Given the description of an element on the screen output the (x, y) to click on. 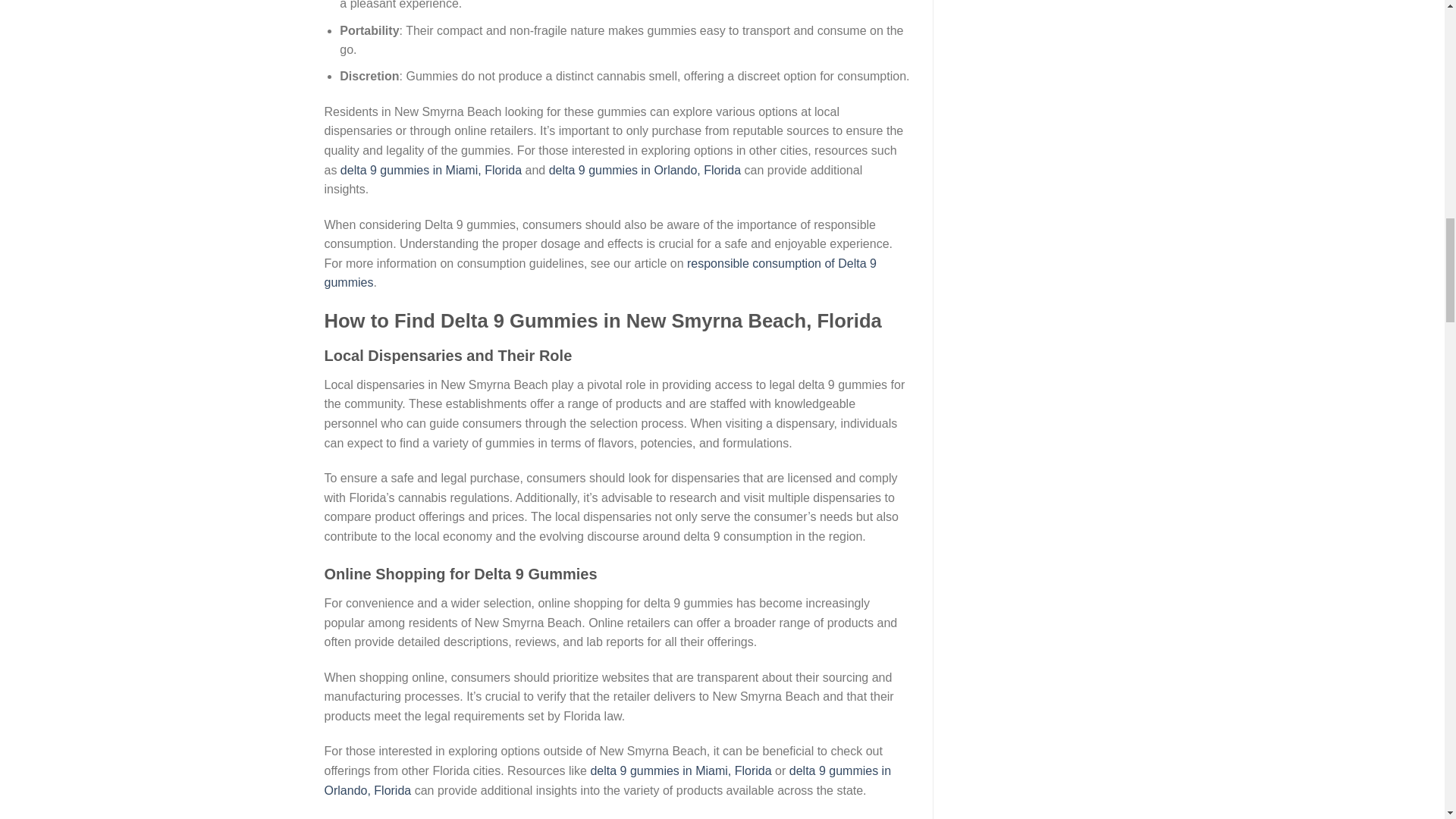
delta 9 gummies in Orlando, Florida (607, 780)
delta 9 gummies in Miami, Florida (430, 169)
delta 9 gummies in Miami, Florida (680, 770)
delta 9 gummies in Orlando, Florida (644, 169)
responsible consumption of Delta 9 gummies (600, 273)
